Given the description of an element on the screen output the (x, y) to click on. 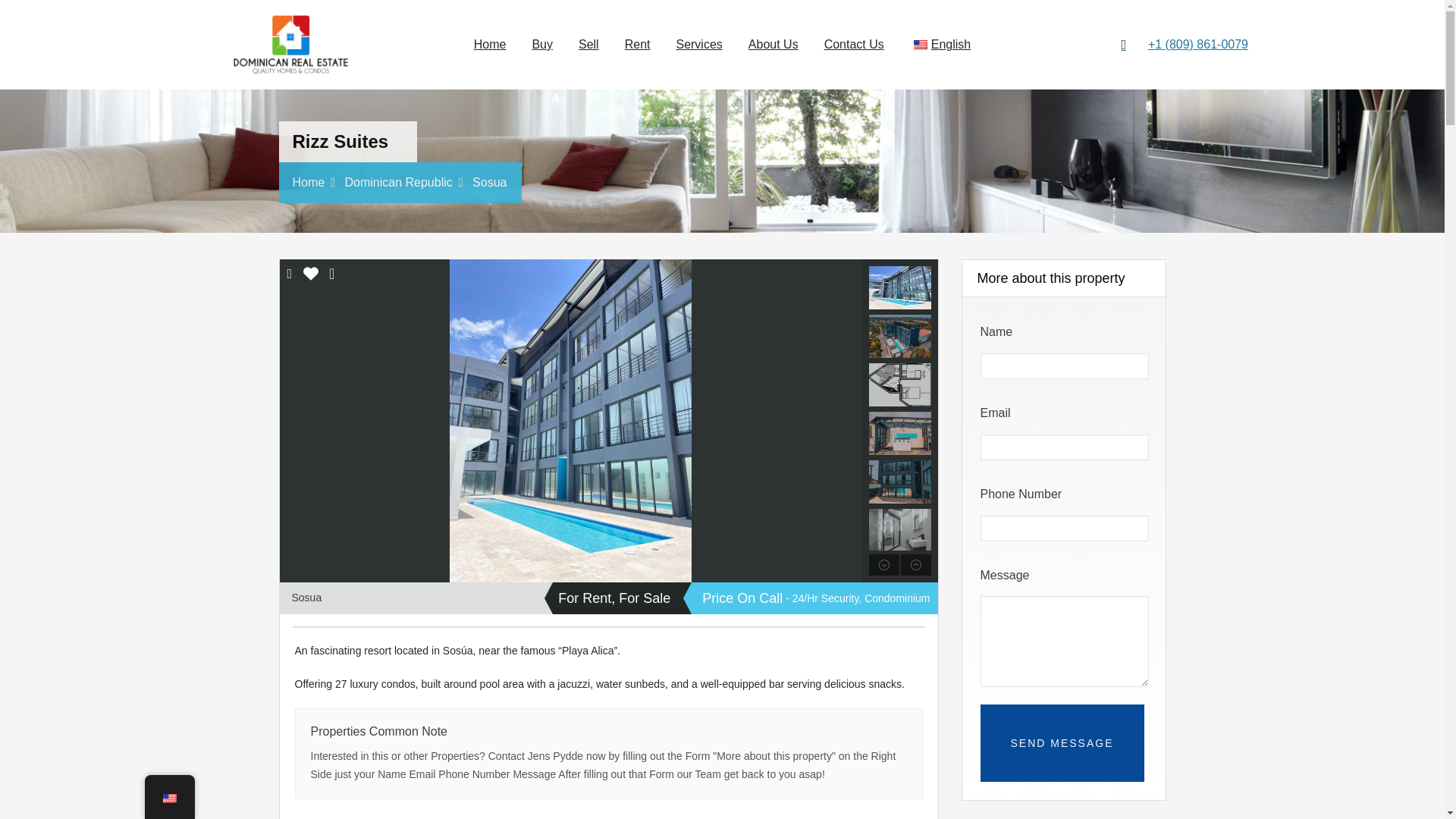
Buy (542, 44)
English (940, 44)
About Us (773, 44)
Send Message (1060, 743)
Rent (637, 44)
Contact Us (854, 44)
Home (489, 44)
Sell (588, 44)
Services (698, 44)
English (920, 44)
